Given the description of an element on the screen output the (x, y) to click on. 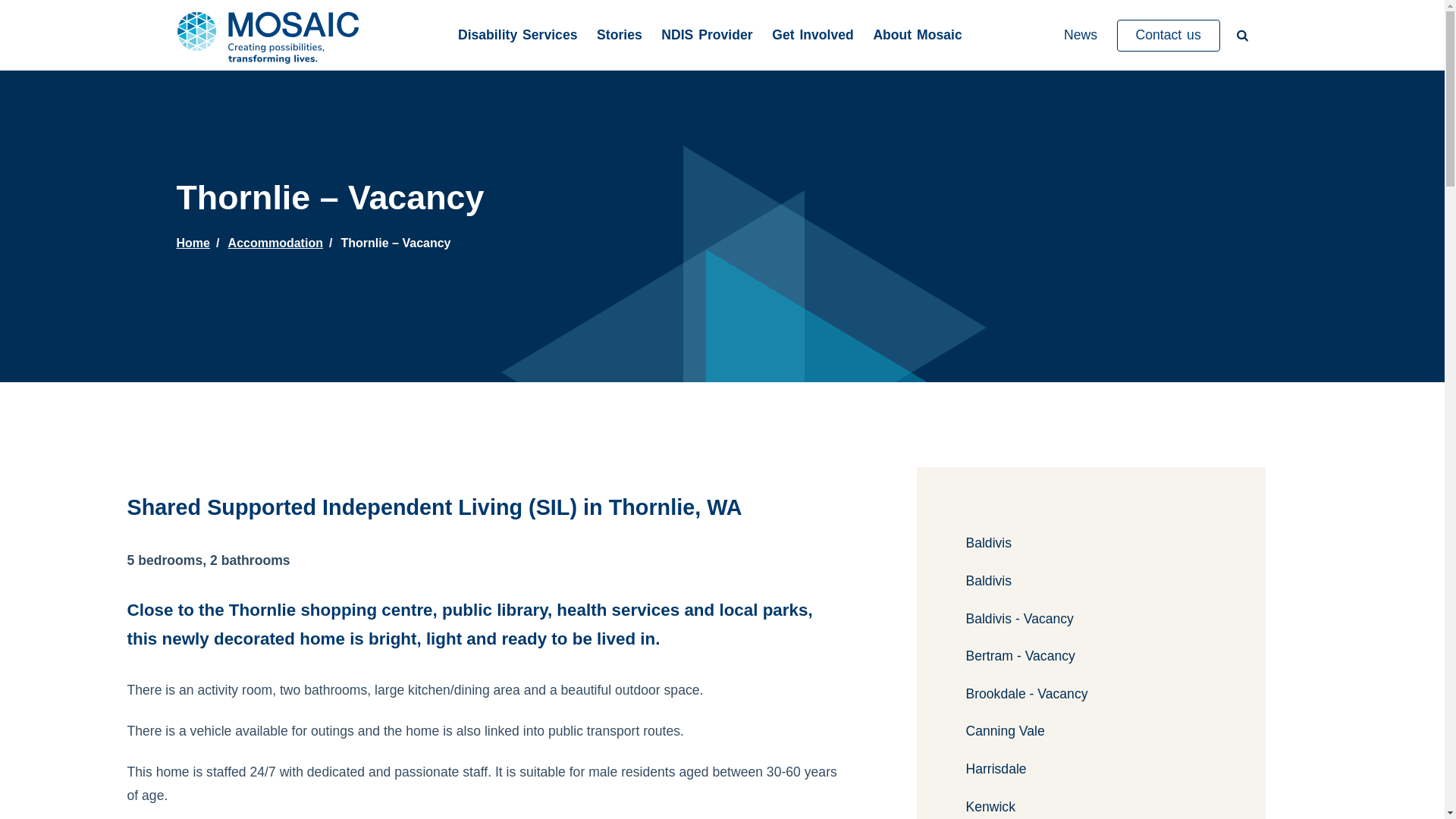
Contact us Element type: text (1168, 35)
Kenwick Element type: text (1091, 807)
Baldivis Element type: text (1091, 543)
Harrisdale Element type: text (1091, 769)
Canning Vale Element type: text (1091, 731)
Disability Services Element type: text (517, 35)
Get Involved Element type: text (812, 35)
Baldivis Element type: text (1091, 581)
NDIS Provider Element type: text (706, 35)
Bertram - Vacancy Element type: text (1091, 656)
About Mosaic Element type: text (916, 35)
News Element type: text (1080, 35)
Accommodation Element type: text (275, 242)
Brookdale - Vacancy Element type: text (1091, 694)
Mosaic Community Care Element type: hover (270, 35)
Stories Element type: text (619, 35)
Home Element type: text (192, 242)
Baldivis - Vacancy Element type: text (1091, 619)
